Given the description of an element on the screen output the (x, y) to click on. 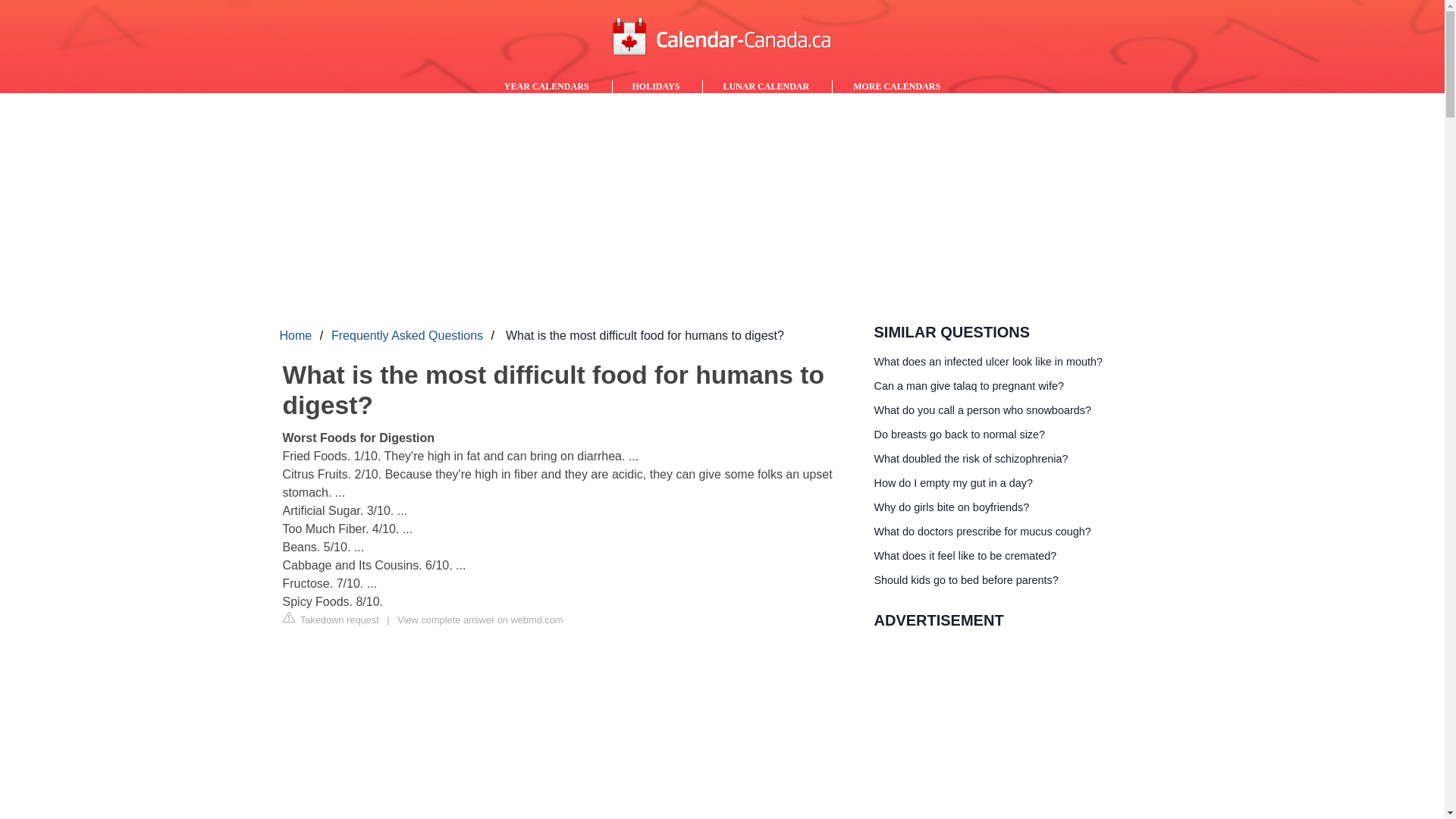
Takedown request (330, 618)
View complete answer on webmd.com (479, 619)
LUNAR CALENDAR (766, 86)
HOLIDAYS (656, 86)
Frequently Asked Questions (407, 332)
Home (295, 332)
MORE CALENDARS (895, 86)
YEAR CALENDARS (546, 86)
